Given the description of an element on the screen output the (x, y) to click on. 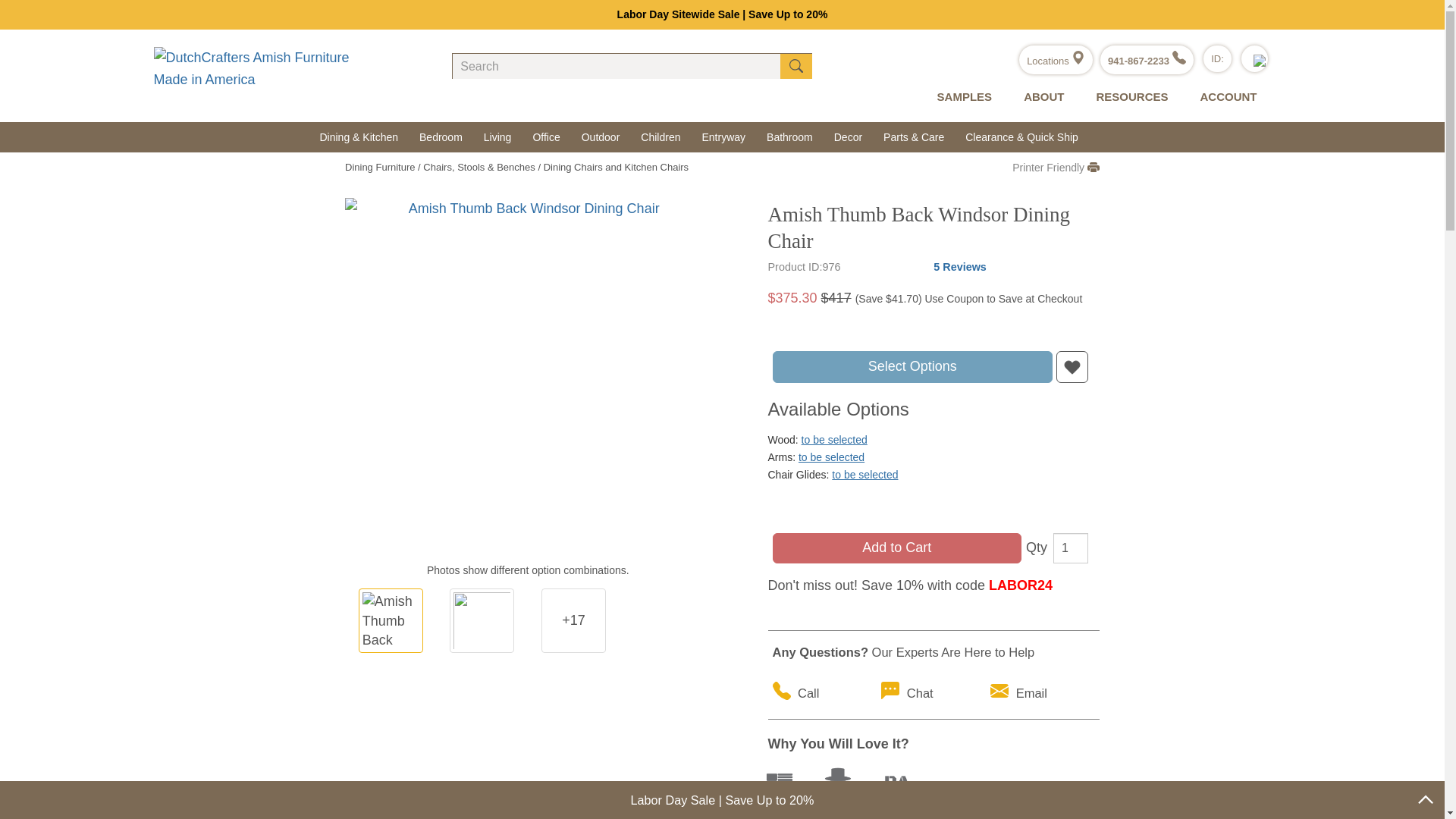
RESOURCES (1128, 96)
ABOUT (1039, 96)
941-867-2233 (1147, 60)
ACCOUNT (1224, 96)
1 (1069, 548)
Locations (1055, 60)
SAMPLES (961, 96)
